Given the description of an element on the screen output the (x, y) to click on. 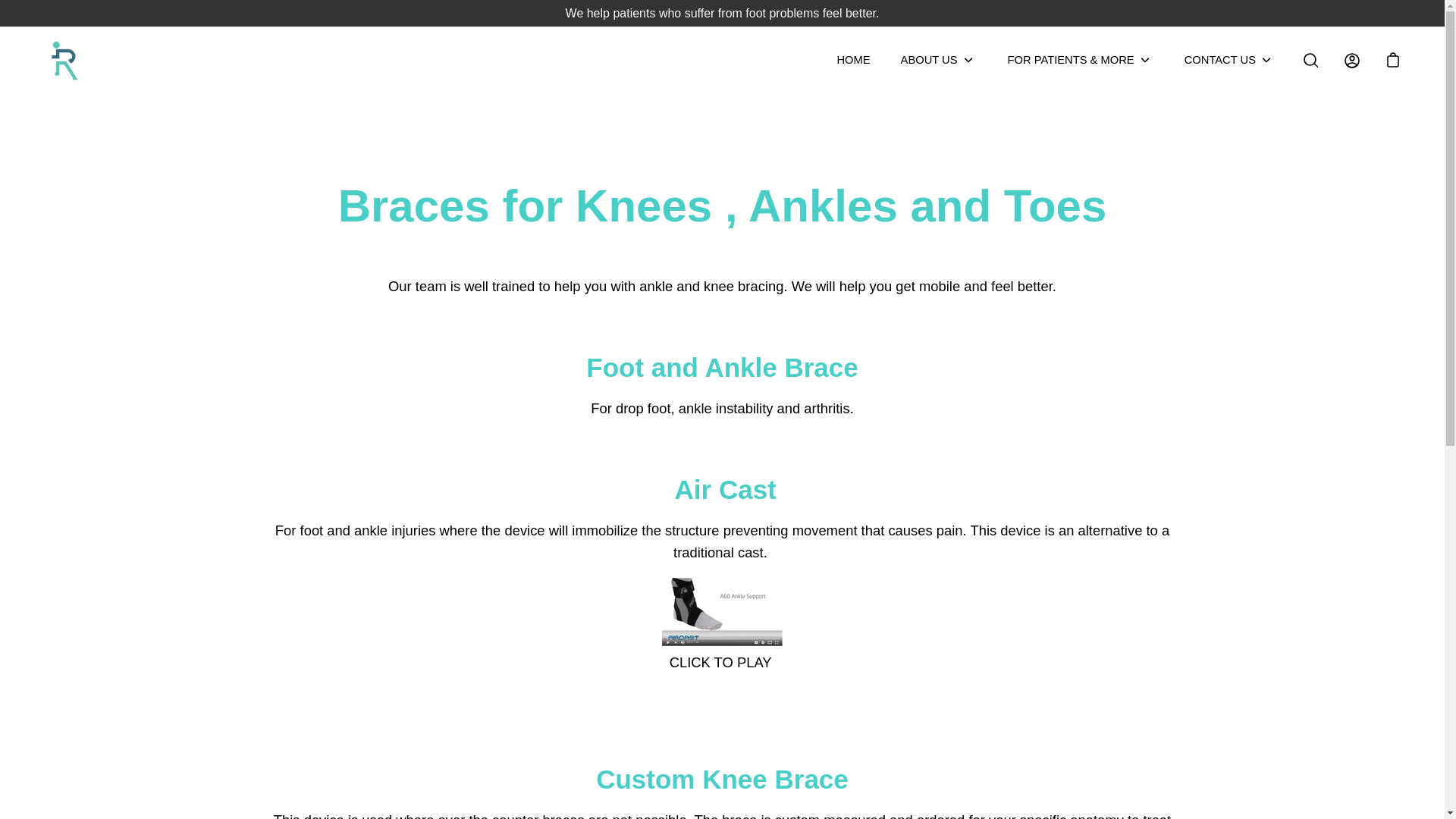
Ankle brace, air cast (722, 641)
